Given the description of an element on the screen output the (x, y) to click on. 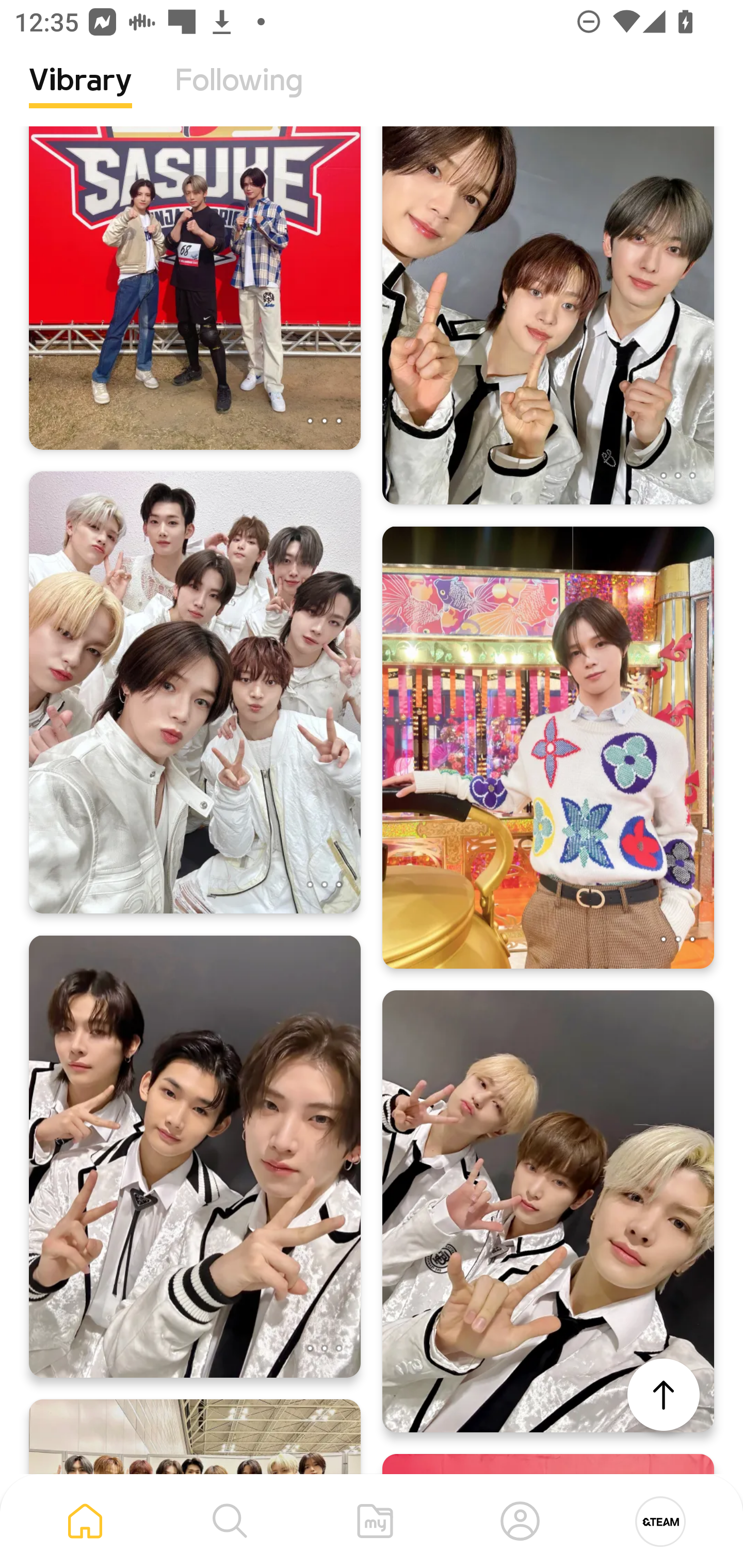
Vibrary (80, 95)
Following (239, 95)
